Given the description of an element on the screen output the (x, y) to click on. 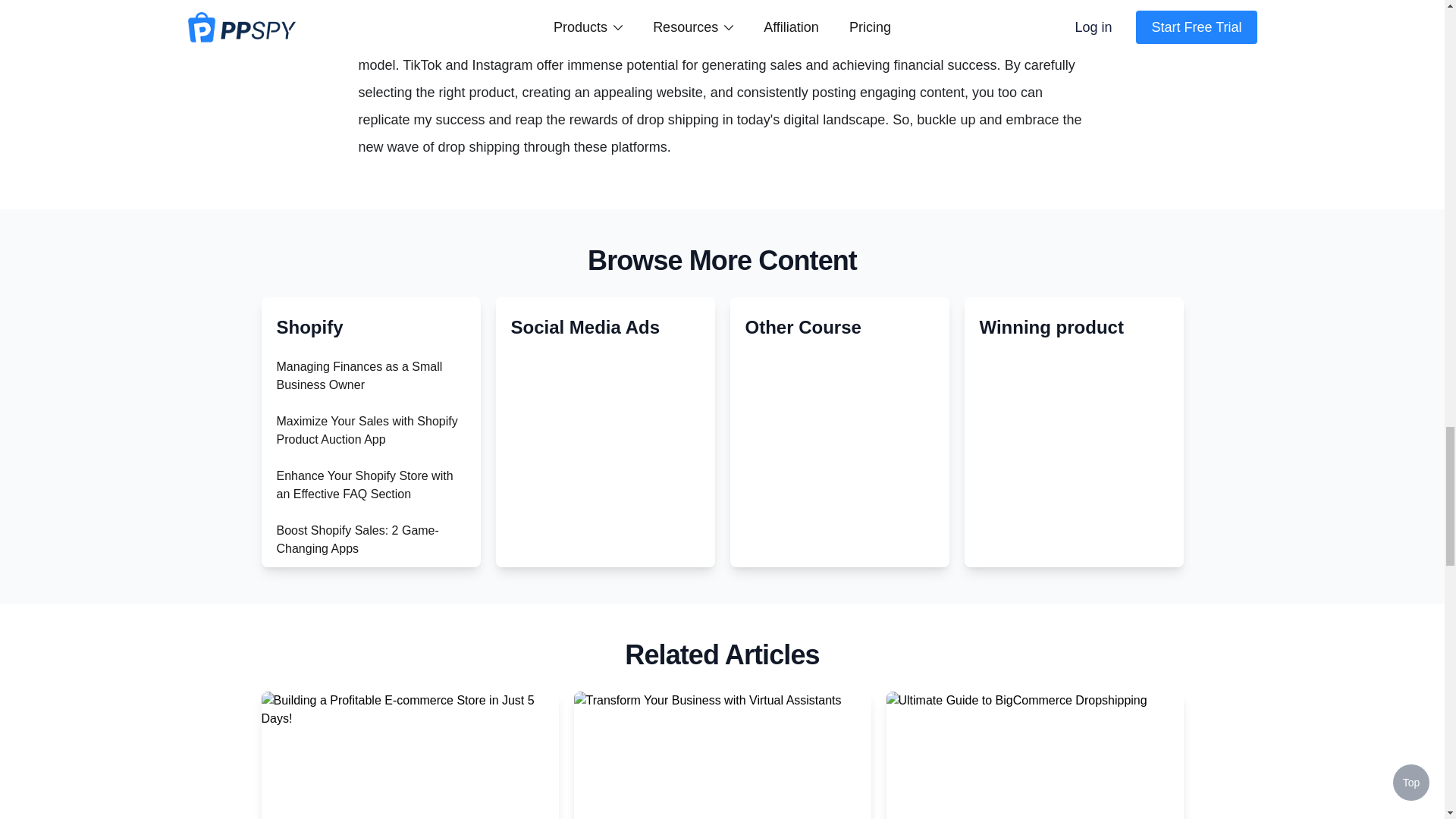
The Genius Behind Mr Beast's Chocolate Brand on Shopify (358, 593)
Managing Finances as a Small Business Owner (359, 375)
Changing Payment Method on Shopify: A Step-by-Step Guide (357, 703)
Boost Shopify Sales: 2 Game-Changing Apps (357, 539)
Shopify vs WooCommerce: Which is Better? (368, 648)
Enhance Your Shopify Store with an Effective FAQ Section (364, 484)
Order Custom Print On Demand Products from Print Melon (362, 816)
Maximize Your Sales with Shopify Product Auction App (366, 429)
